Given the description of an element on the screen output the (x, y) to click on. 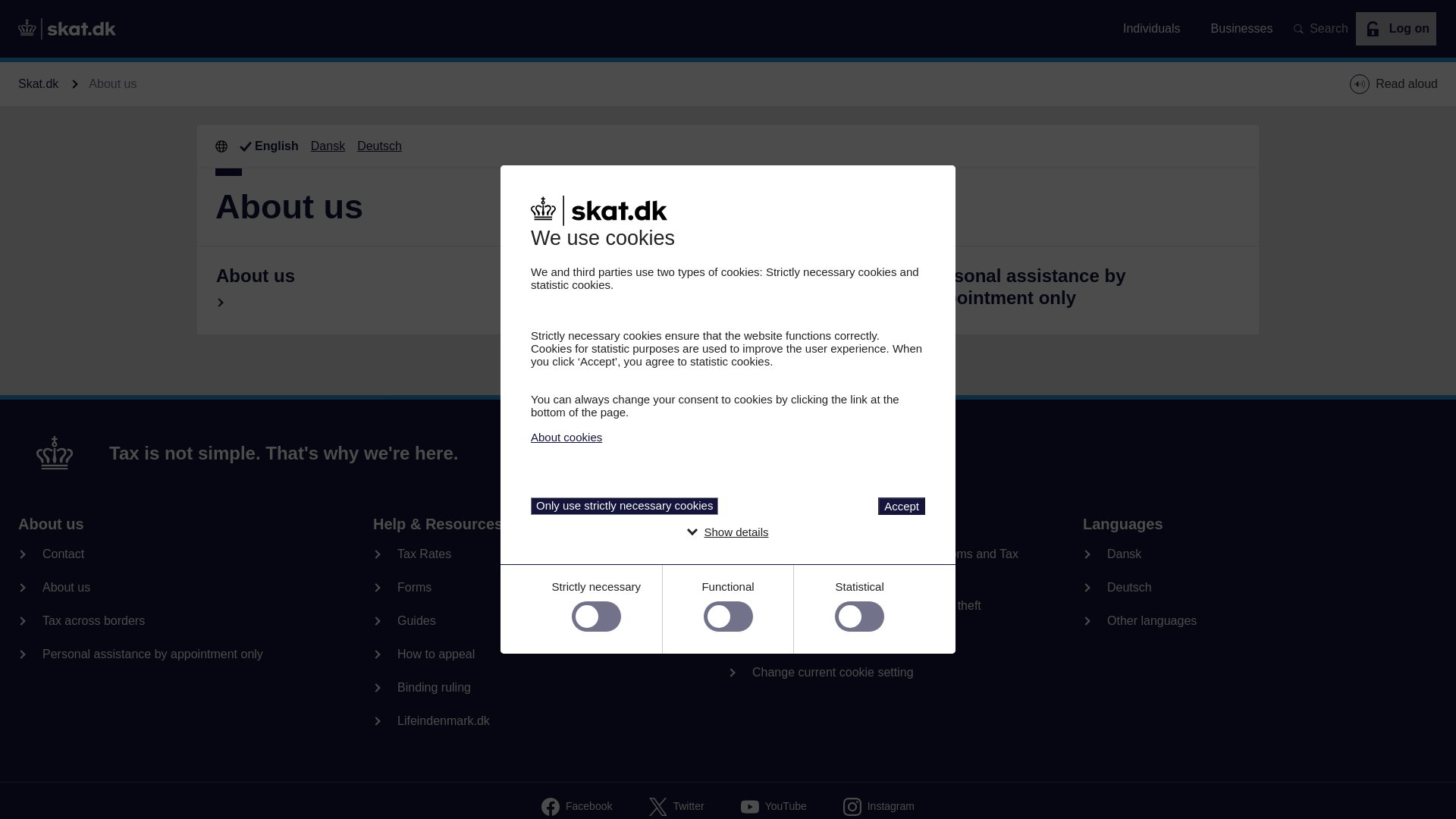
Accept (900, 506)
About cookies (566, 436)
Only use strictly necessary cookies (624, 506)
Show details (735, 531)
